Given the description of an element on the screen output the (x, y) to click on. 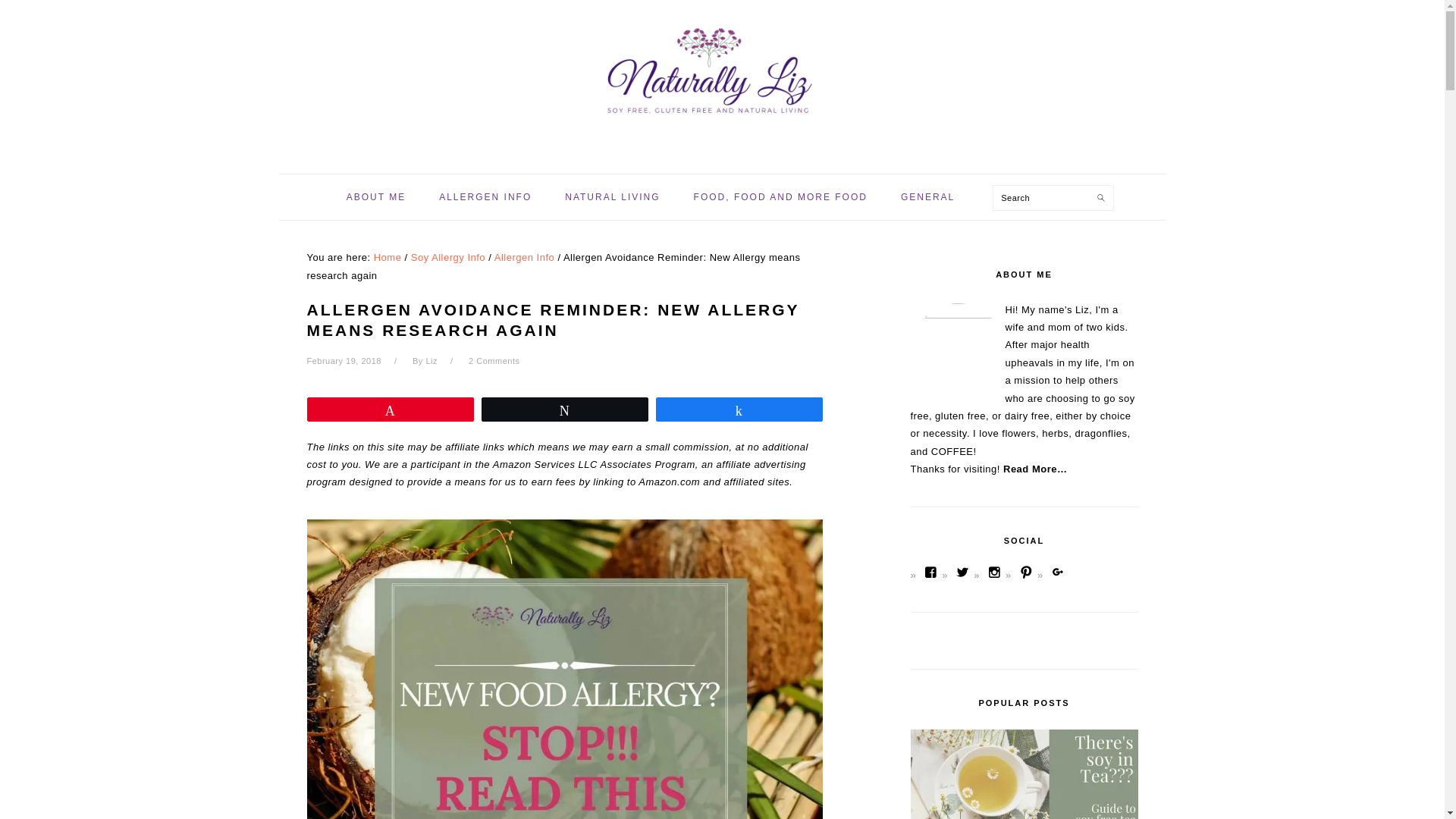
NATURALLY LIZ (721, 82)
NATURAL LIVING (611, 196)
FOOD, FOOD AND MORE FOOD (780, 196)
GENERAL (928, 196)
2 Comments (493, 360)
ABOUT ME (376, 196)
Liz (431, 360)
Home (387, 256)
Allergen Info (524, 256)
ALLERGEN INFO (485, 196)
Soy Allergy Info (447, 256)
